Given the description of an element on the screen output the (x, y) to click on. 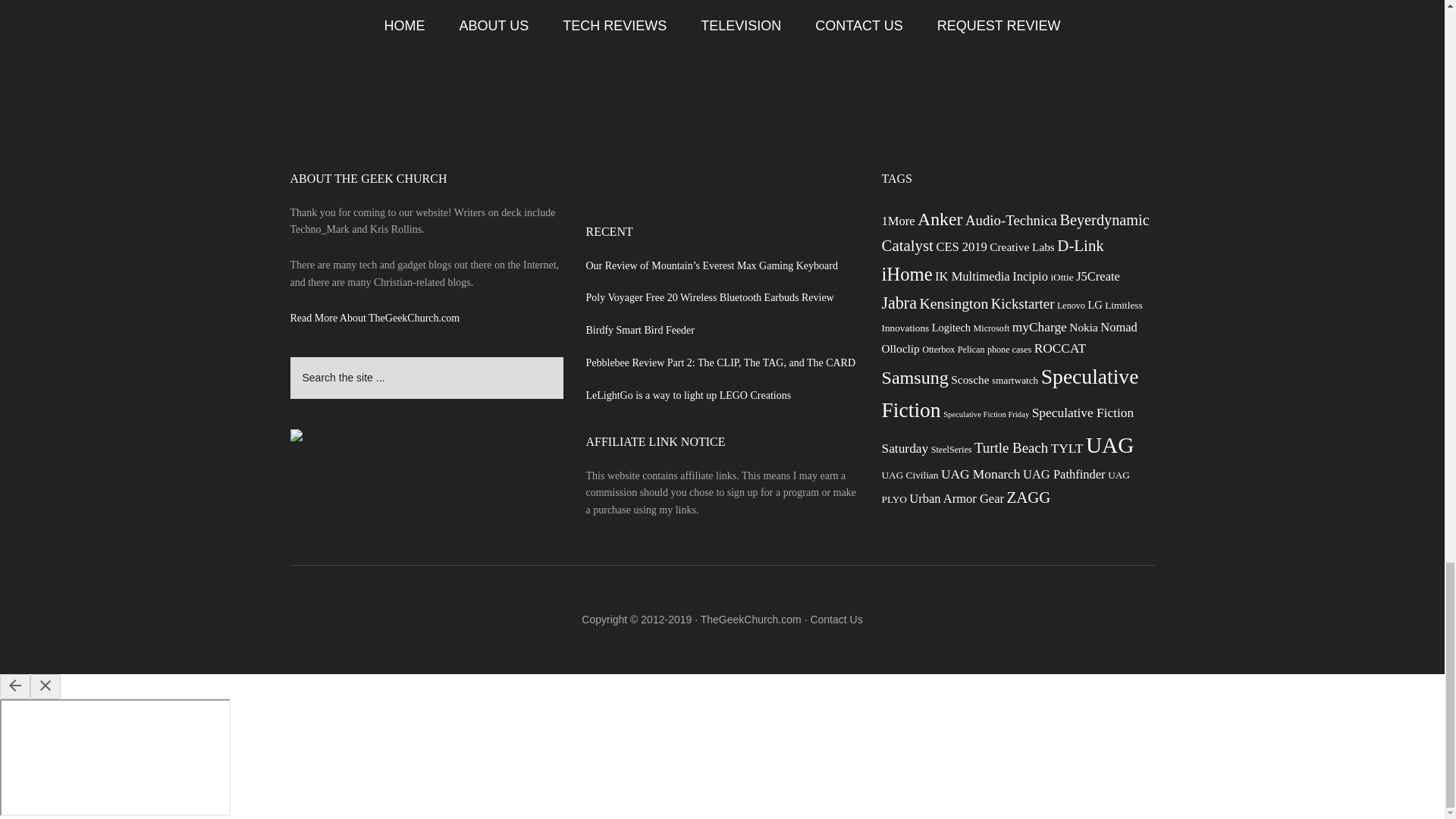
Post Comment (350, 2)
Post Comment (350, 2)
Advertisement (722, 198)
Advertisement (721, 129)
